Given the description of an element on the screen output the (x, y) to click on. 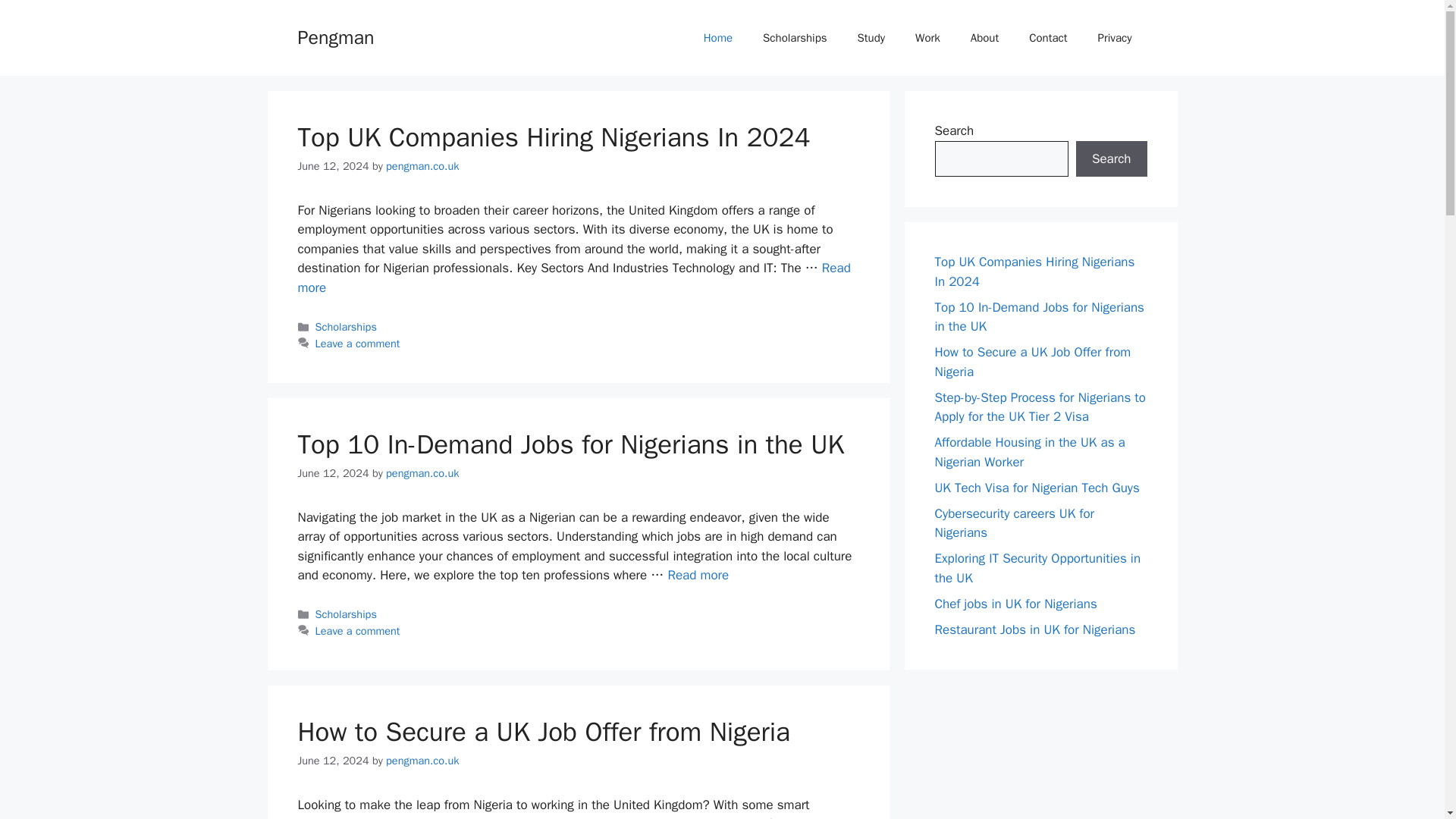
Leave a comment (357, 631)
How to Secure a UK Job Offer from Nigeria (543, 731)
Home (718, 37)
View all posts by pengman.co.uk (421, 165)
Read more (573, 277)
About (984, 37)
Scholarships (346, 613)
Pengman (335, 37)
Top 10 In-Demand Jobs for Nigerians in the UK (570, 444)
Study (872, 37)
Privacy (1115, 37)
Top UK Companies Hiring Nigerians In 2024 (573, 277)
Leave a comment (357, 343)
pengman.co.uk (421, 760)
Scholarships (346, 326)
